Given the description of an element on the screen output the (x, y) to click on. 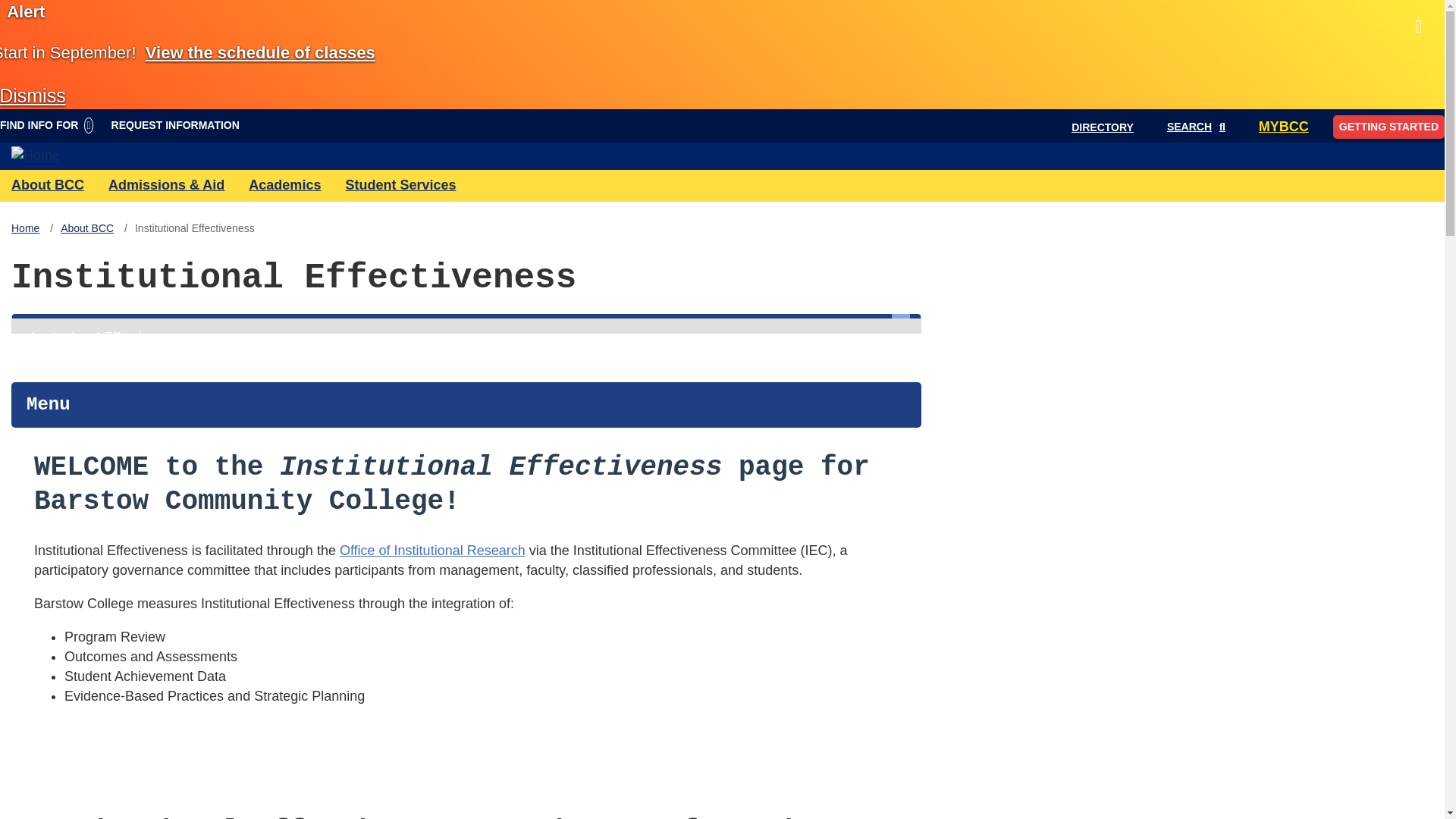
About BCC (47, 189)
DIRECTORY (1102, 127)
Academics (284, 189)
View the schedule of classes (260, 52)
FIND INFO FOR (50, 124)
close (32, 95)
SEARCH (1195, 126)
REQUEST INFORMATION (174, 124)
Dismiss (32, 95)
